Given the description of an element on the screen output the (x, y) to click on. 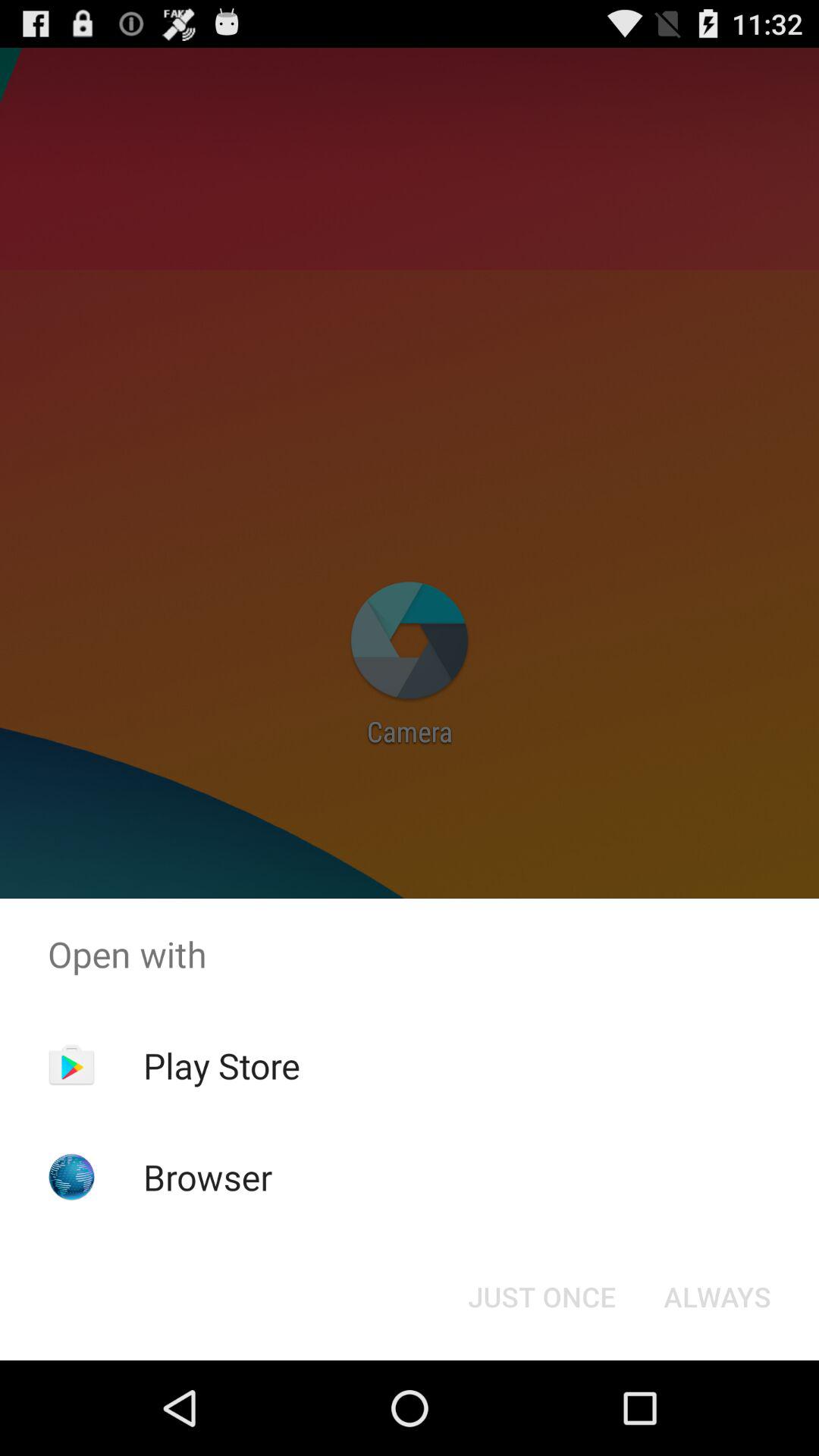
press button to the right of the just once button (717, 1296)
